Given the description of an element on the screen output the (x, y) to click on. 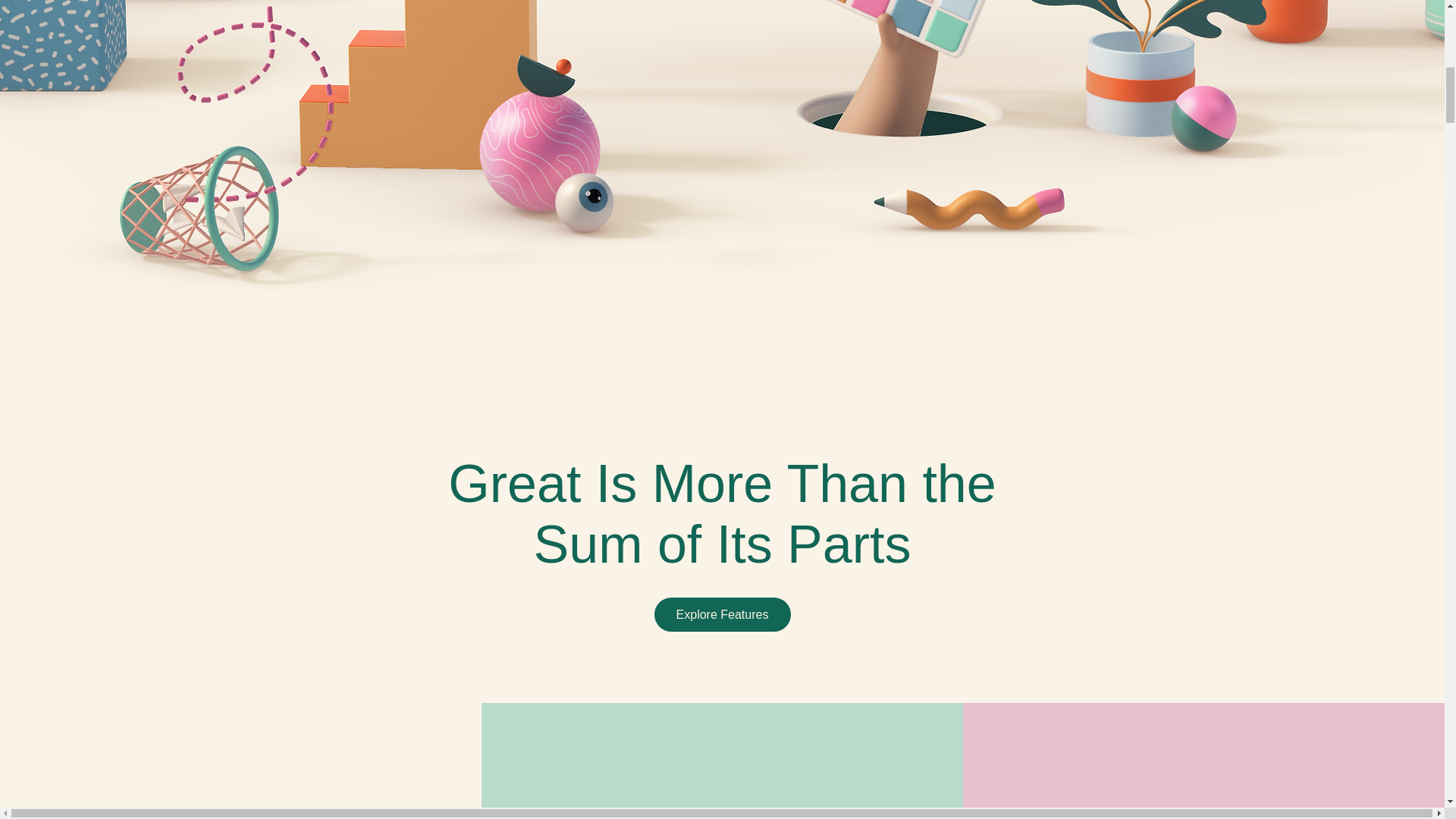
Explore Features (721, 614)
